Given the description of an element on the screen output the (x, y) to click on. 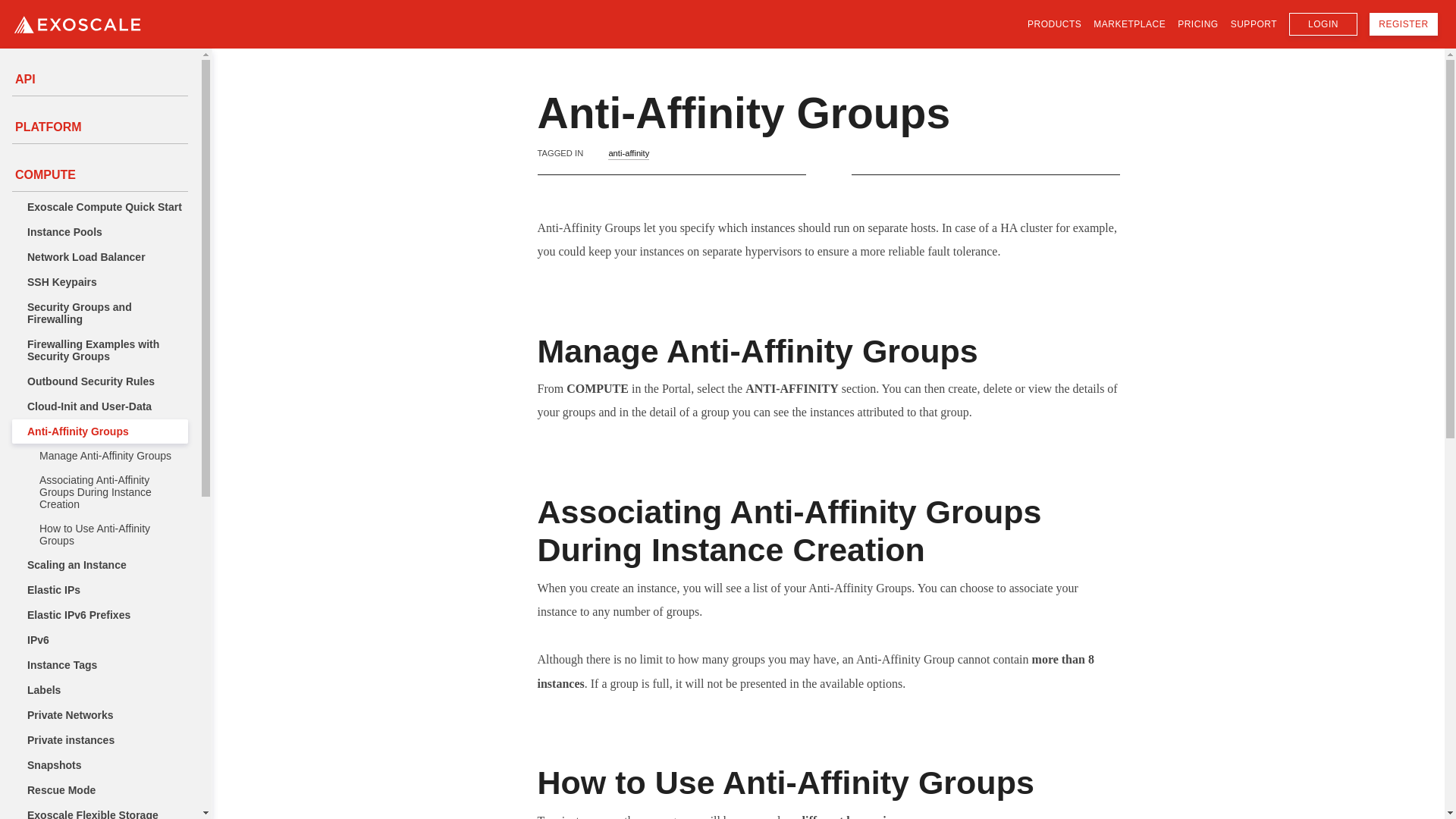
MARKETPLACE (1129, 24)
Anti-Affinity Groups (99, 431)
Scaling an Instance (99, 564)
PRODUCTS (1054, 24)
SUPPORT (1253, 24)
Exoscale Compute Quick Start (99, 206)
Private Networks (99, 714)
Firewalling Examples with Security Groups (99, 350)
Labels (99, 689)
Rescue Mode (99, 790)
